Given the description of an element on the screen output the (x, y) to click on. 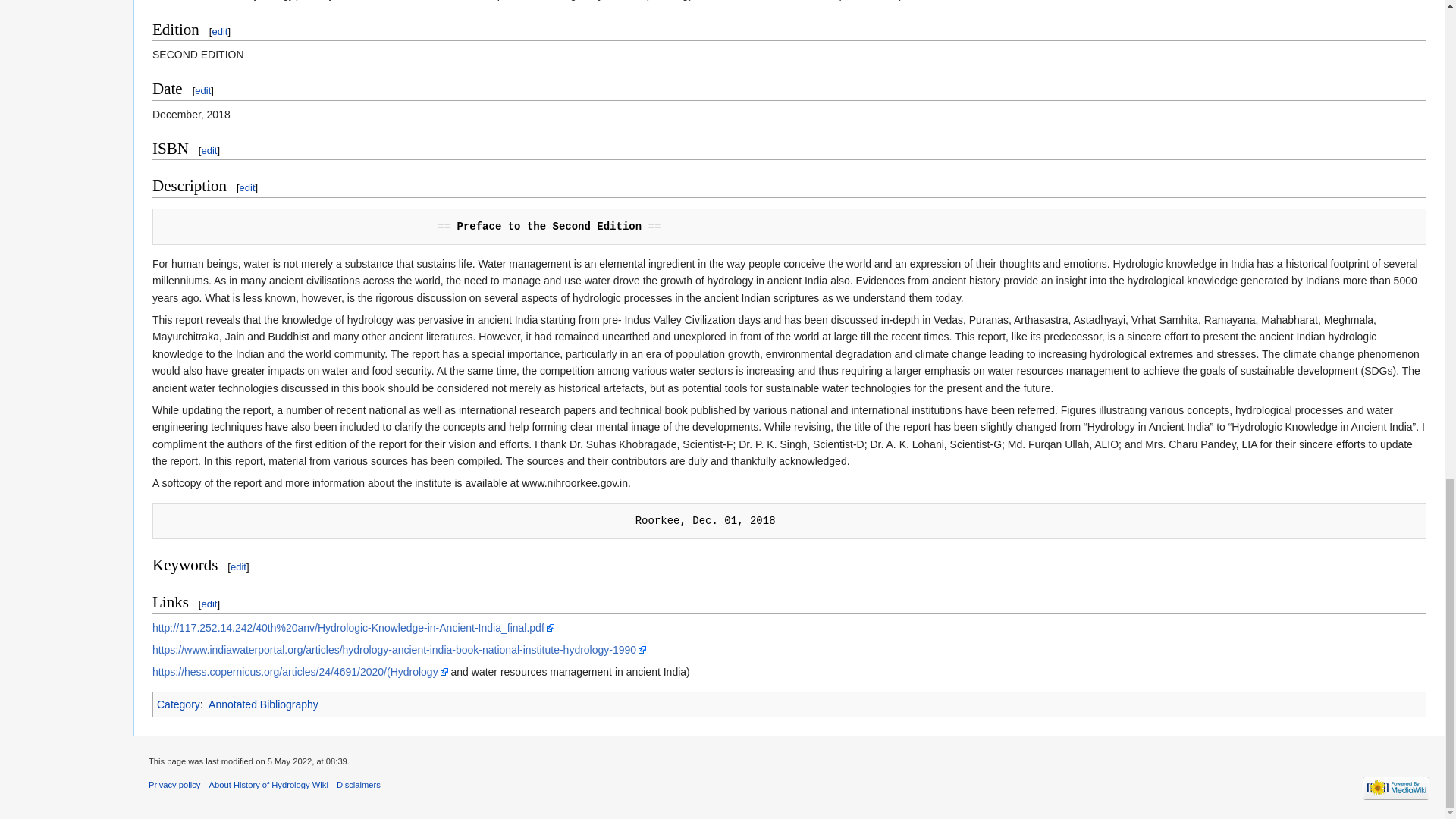
edit (238, 566)
Special:Categories (178, 704)
Category:Annotated Bibliography (263, 704)
Annotated Bibliography (263, 704)
edit (203, 90)
Edit section: Edition (219, 30)
edit (208, 150)
edit (248, 187)
Edit section: Date (203, 90)
Edit section: Links (208, 603)
